Given the description of an element on the screen output the (x, y) to click on. 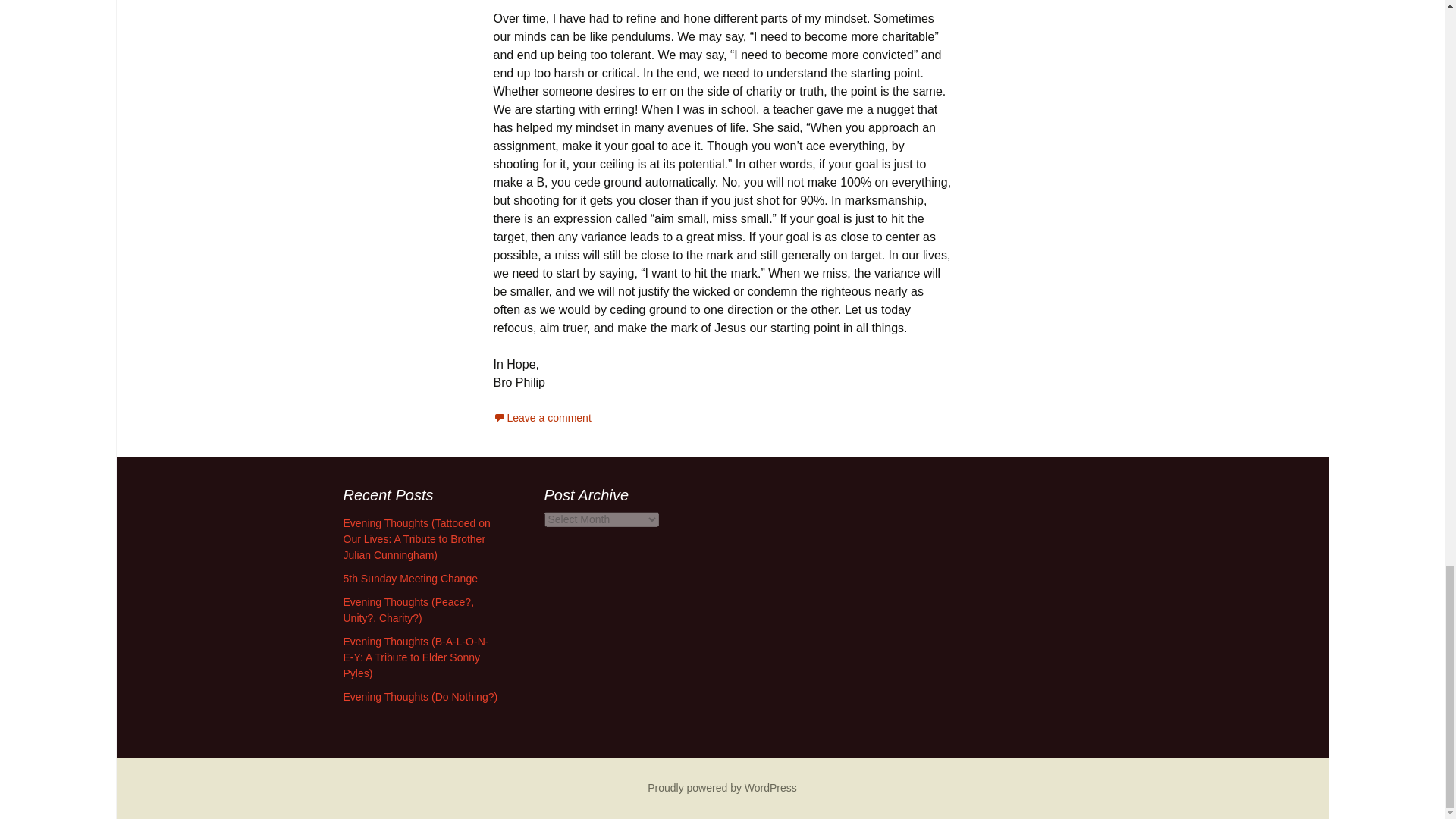
5th Sunday Meeting Change (409, 578)
Leave a comment (542, 417)
Proudly powered by WordPress (721, 787)
